Given the description of an element on the screen output the (x, y) to click on. 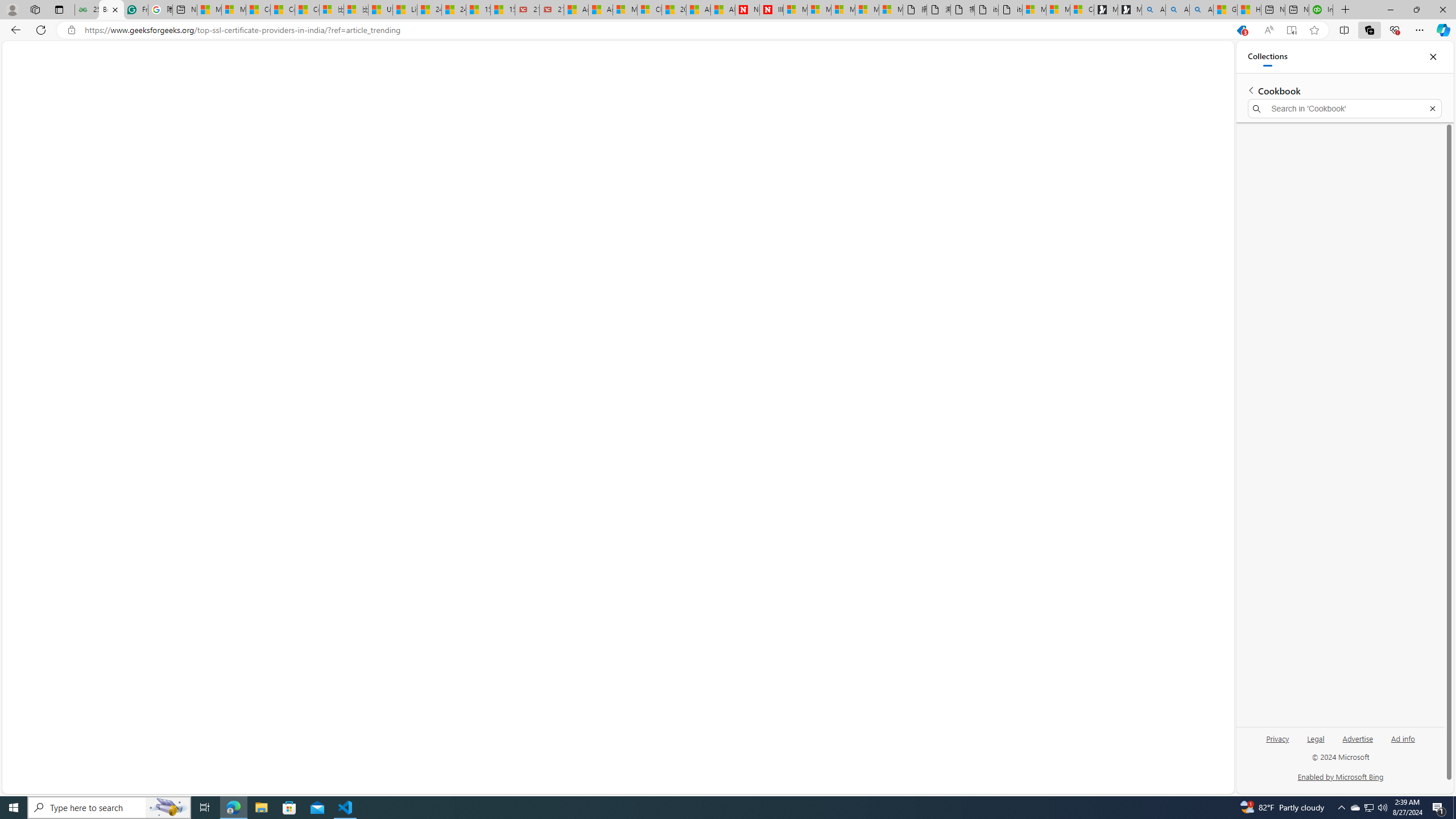
SSL certificate (587, 462)
Tech Tips (274, 80)
What is OpenAI SearchGPT? How it works and How to Get it? (1125, 199)
Class: ns-0w9yu-e-5 (324, 133)
Website & Apps (220, 80)
AutomationID: cbb (1202, 257)
AutomationID: tag (1121, 422)
How to Get a Free SSL Certificate (1125, 137)
Cloud Computing Services | Microsoft Azure (648, 9)
Intuit QuickBooks Online - Quickbooks (1321, 9)
Free Online Writing Tool (325, 160)
Tech Tips (274, 79)
